Given the description of an element on the screen output the (x, y) to click on. 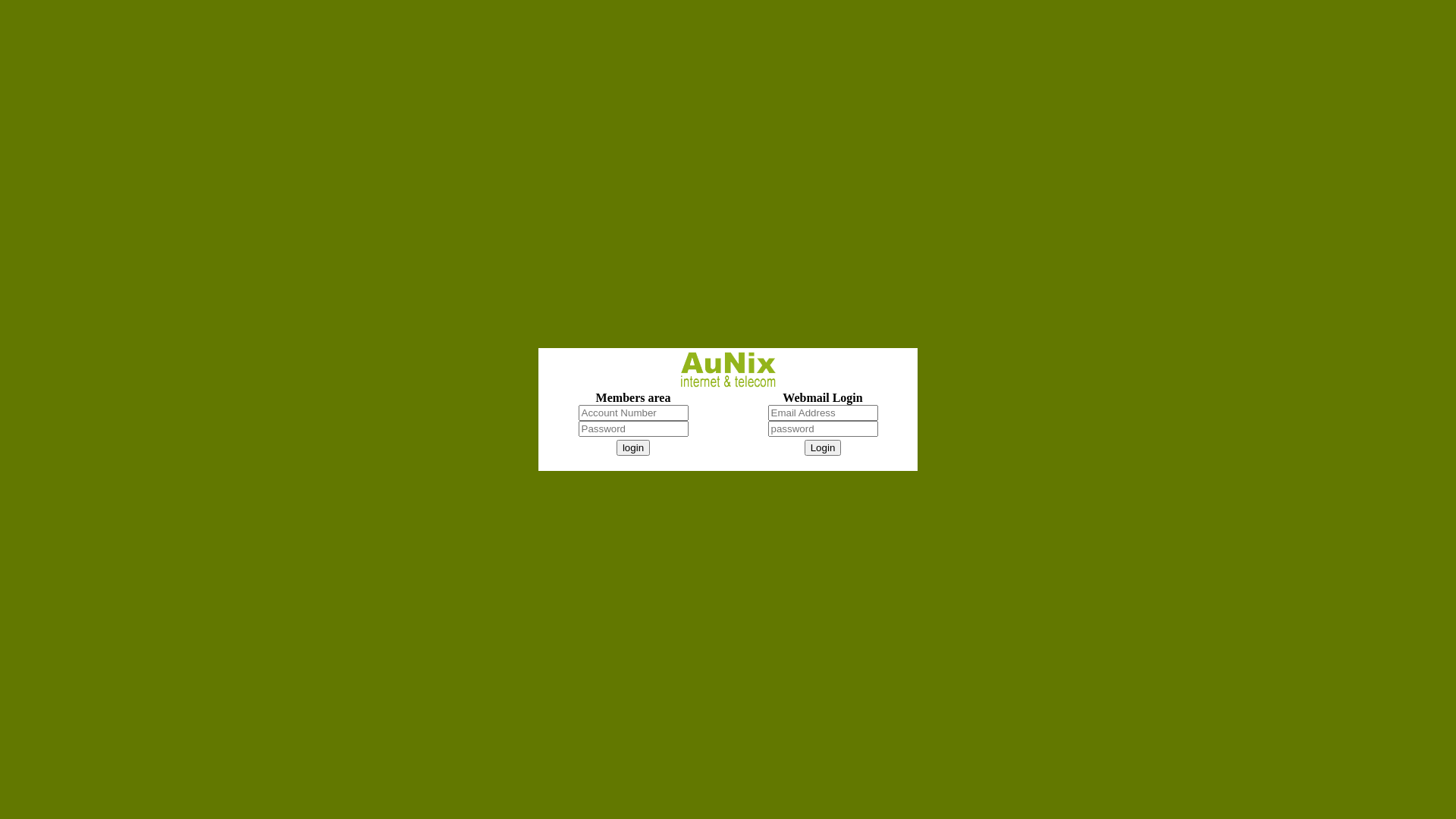
login Element type: text (632, 447)
Login Element type: text (822, 447)
